Given the description of an element on the screen output the (x, y) to click on. 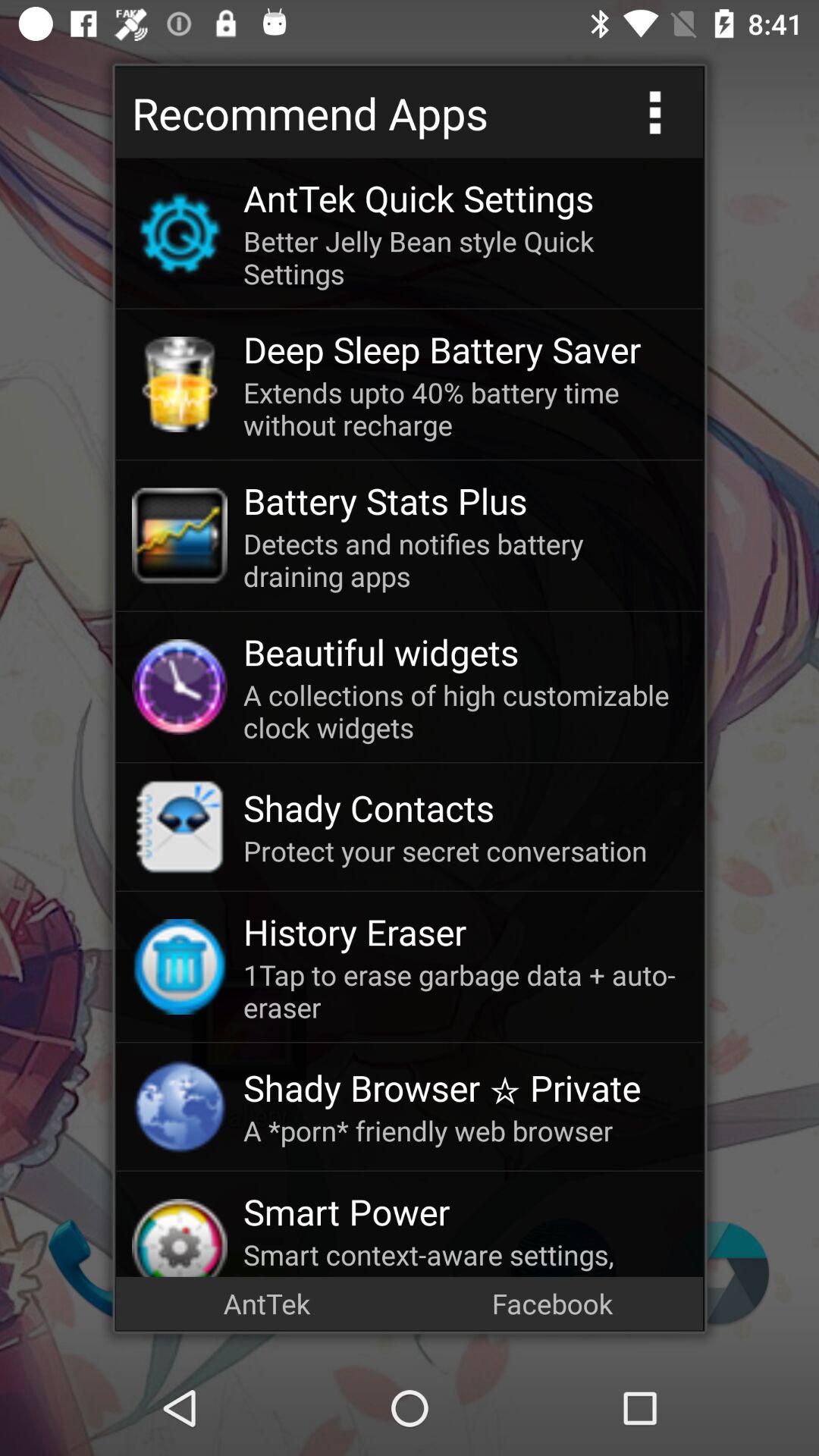
click the detects and notifies app (465, 559)
